Given the description of an element on the screen output the (x, y) to click on. 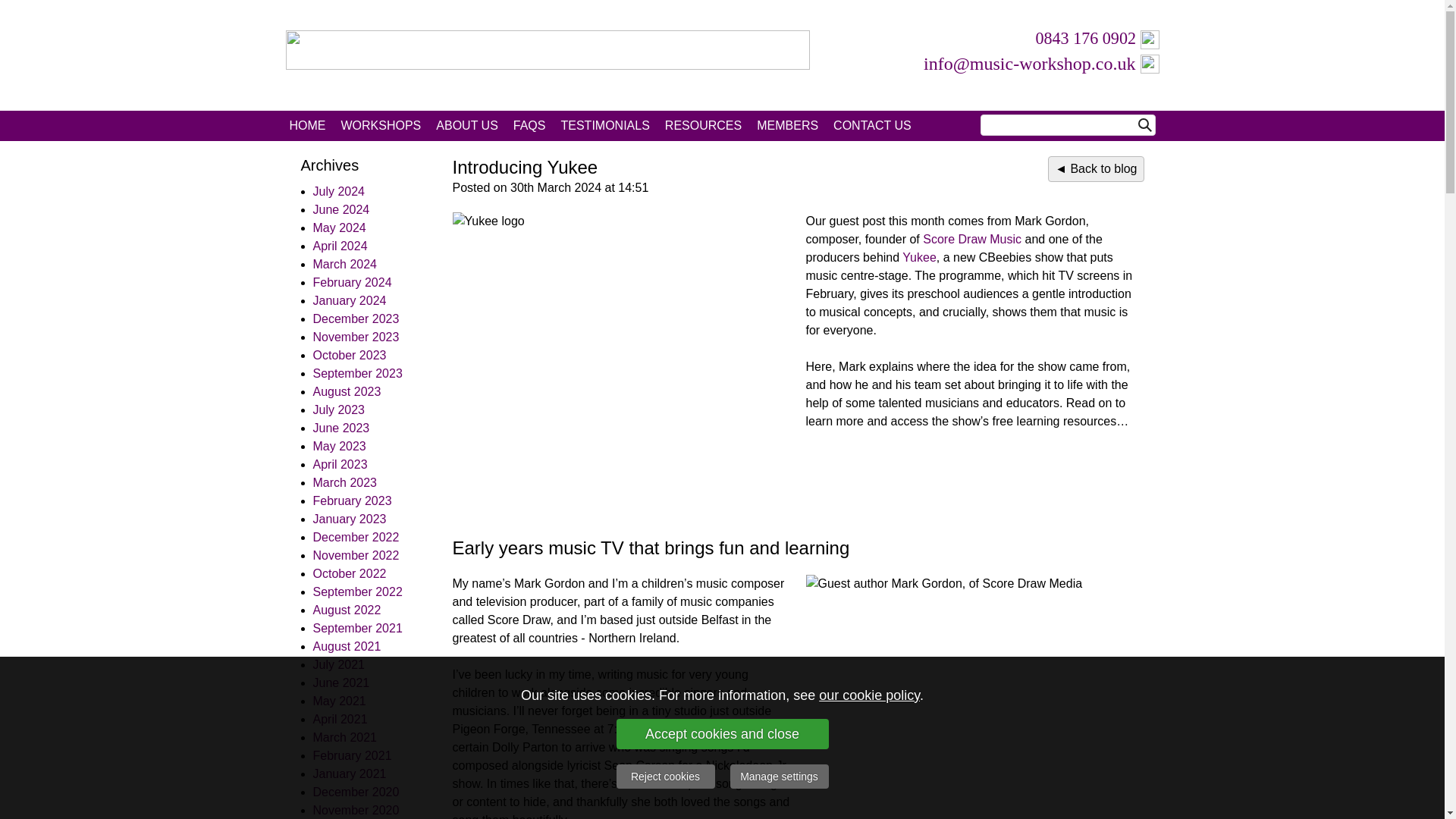
Score Draw Music (972, 238)
CONTACT US (871, 125)
ABOUT US (466, 125)
WORKSHOPS (381, 125)
MEMBERS (787, 125)
FAQS (529, 125)
RESOURCES (703, 125)
Back to blog (1095, 168)
HOME (307, 125)
TESTIMONIALS (604, 125)
Yukee (919, 256)
